Given the description of an element on the screen output the (x, y) to click on. 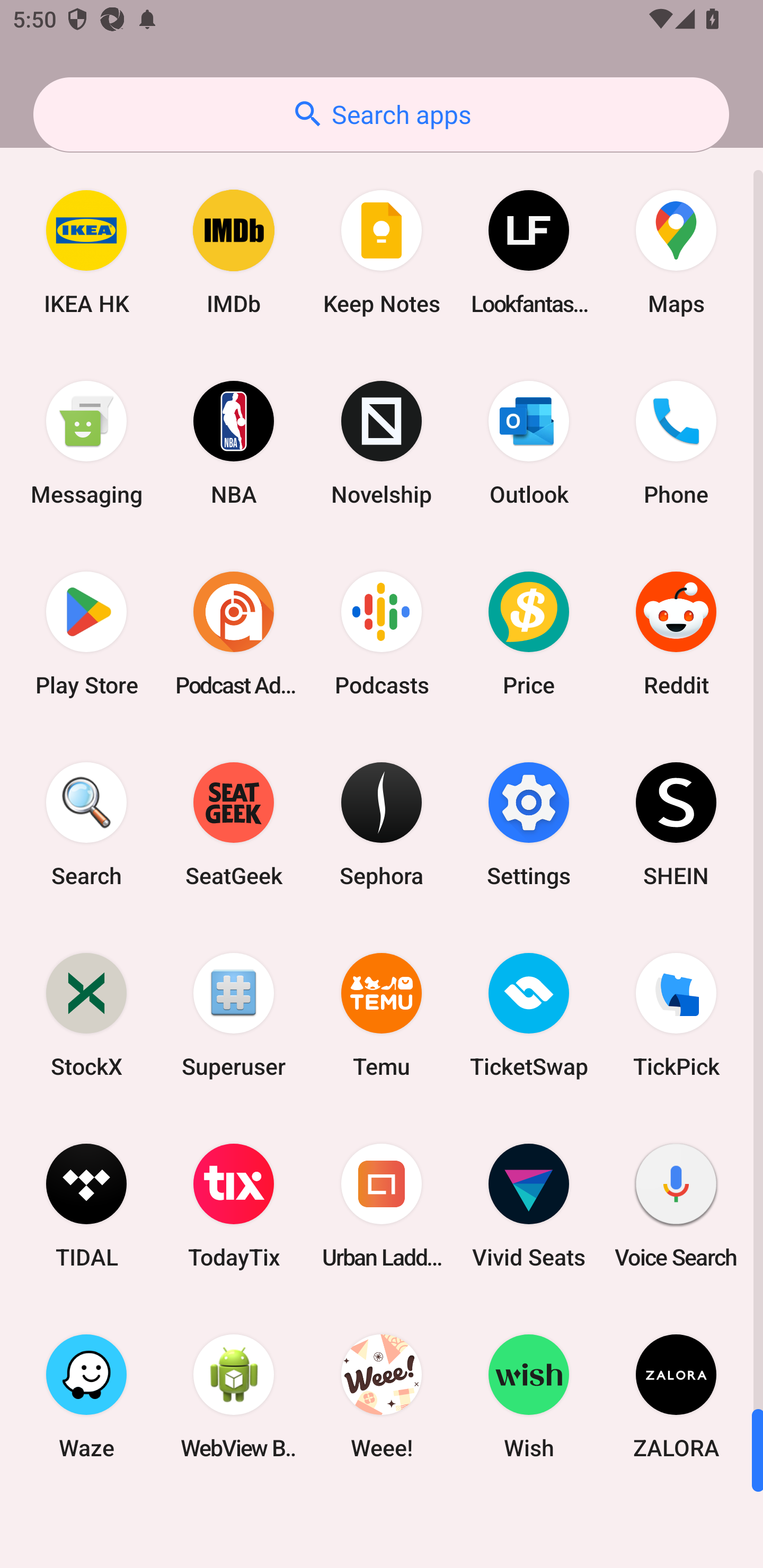
  Search apps (381, 114)
IKEA HK (86, 252)
IMDb (233, 252)
Keep Notes (381, 252)
Lookfantastic (528, 252)
Maps (676, 252)
Messaging (86, 442)
NBA (233, 442)
Novelship (381, 442)
Outlook (528, 442)
Phone (676, 442)
Play Store (86, 633)
Podcast Addict (233, 633)
Podcasts (381, 633)
Price (528, 633)
Reddit (676, 633)
Search (86, 823)
SeatGeek (233, 823)
Sephora (381, 823)
Settings (528, 823)
SHEIN (676, 823)
StockX (86, 1014)
Superuser (233, 1014)
Temu (381, 1014)
TicketSwap (528, 1014)
TickPick (676, 1014)
TIDAL (86, 1205)
TodayTix (233, 1205)
Urban Ladder (381, 1205)
Vivid Seats (528, 1205)
Voice Search (676, 1205)
Waze (86, 1396)
WebView Browser Tester (233, 1396)
Weee! (381, 1396)
Wish (528, 1396)
ZALORA (676, 1396)
